Given the description of an element on the screen output the (x, y) to click on. 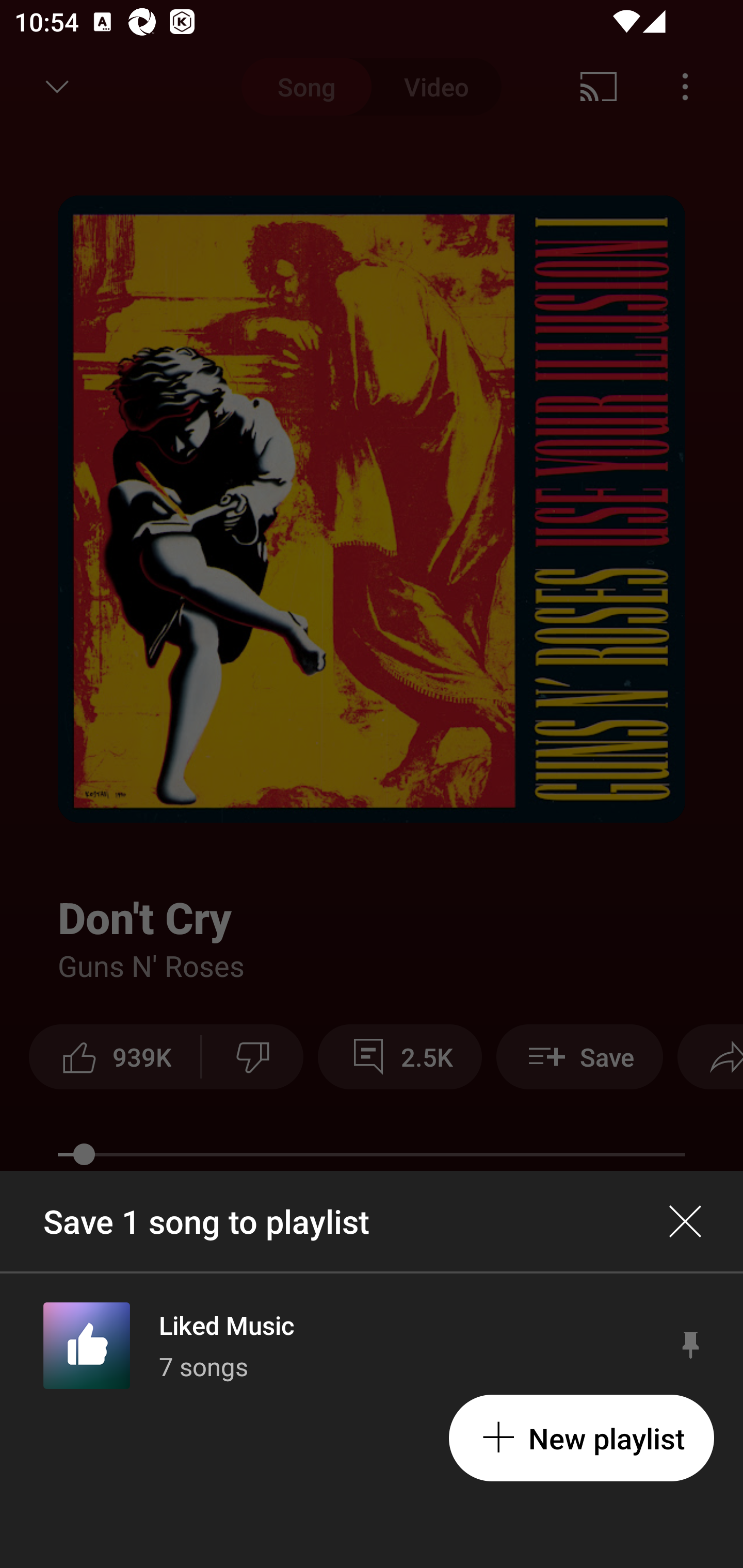
Close (685, 1221)
New playlist (581, 1437)
